Given the description of an element on the screen output the (x, y) to click on. 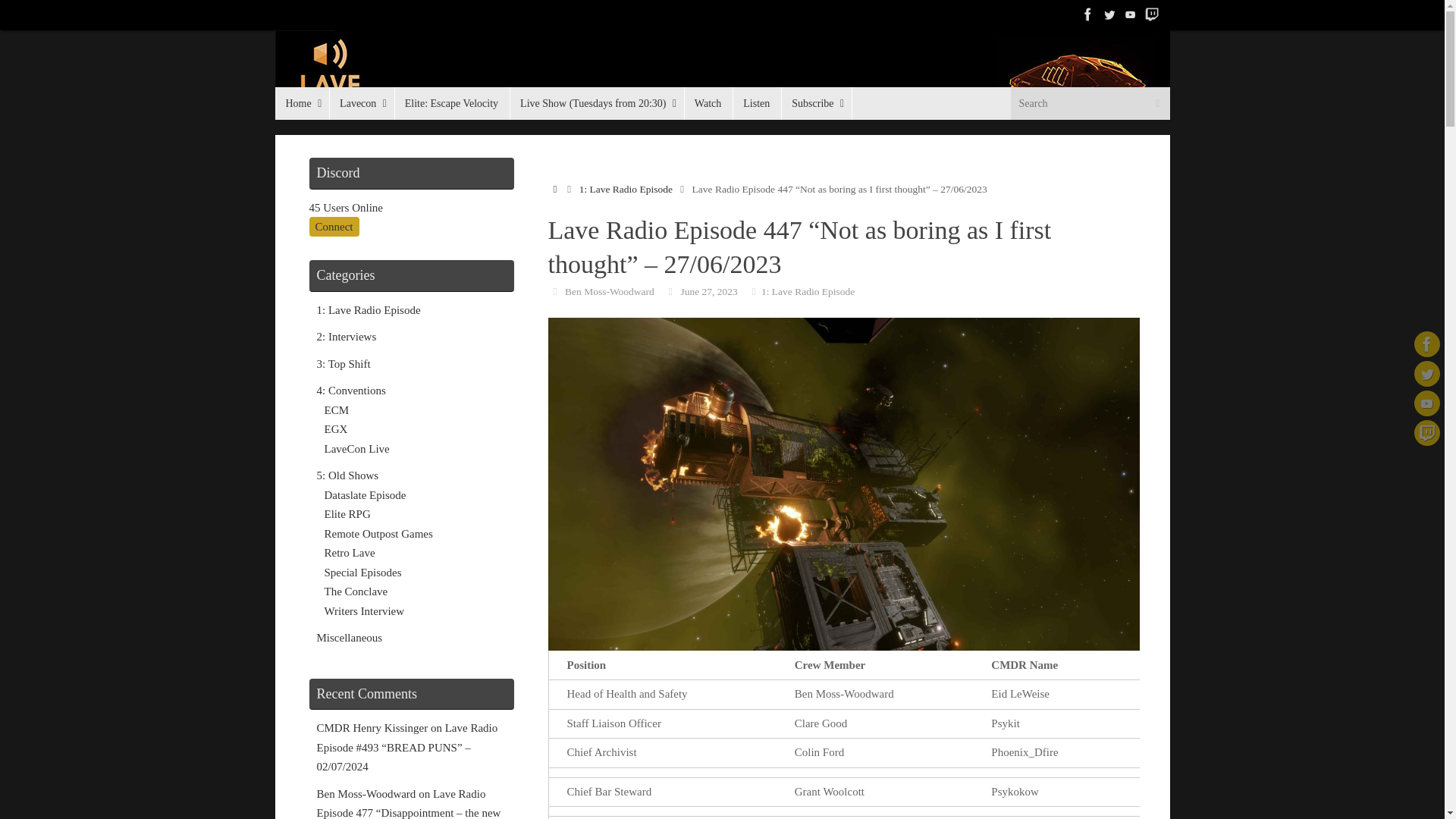
Twitch (1150, 14)
Twitter (1108, 14)
Subscribe (815, 102)
Facebook (1087, 14)
YouTube (1129, 14)
Elite: Escape Velocity (451, 102)
Author (554, 291)
YouTube (1426, 403)
Listen (756, 102)
Facebook (1426, 344)
